Given the description of an element on the screen output the (x, y) to click on. 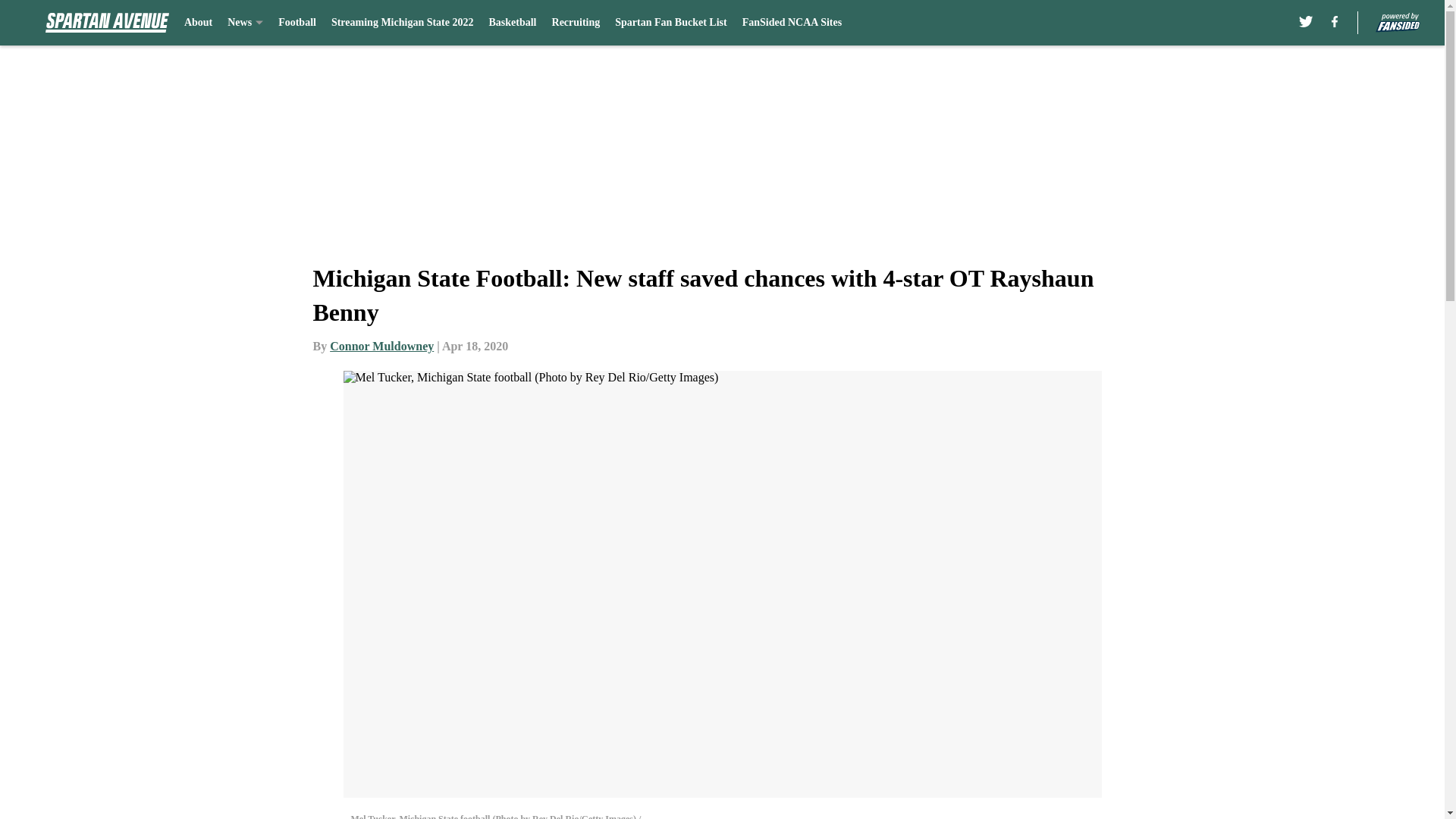
Streaming Michigan State 2022 (402, 22)
About (198, 22)
Connor Muldowney (381, 345)
Spartan Fan Bucket List (670, 22)
Basketball (511, 22)
Recruiting (575, 22)
FanSided NCAA Sites (791, 22)
Football (296, 22)
